Given the description of an element on the screen output the (x, y) to click on. 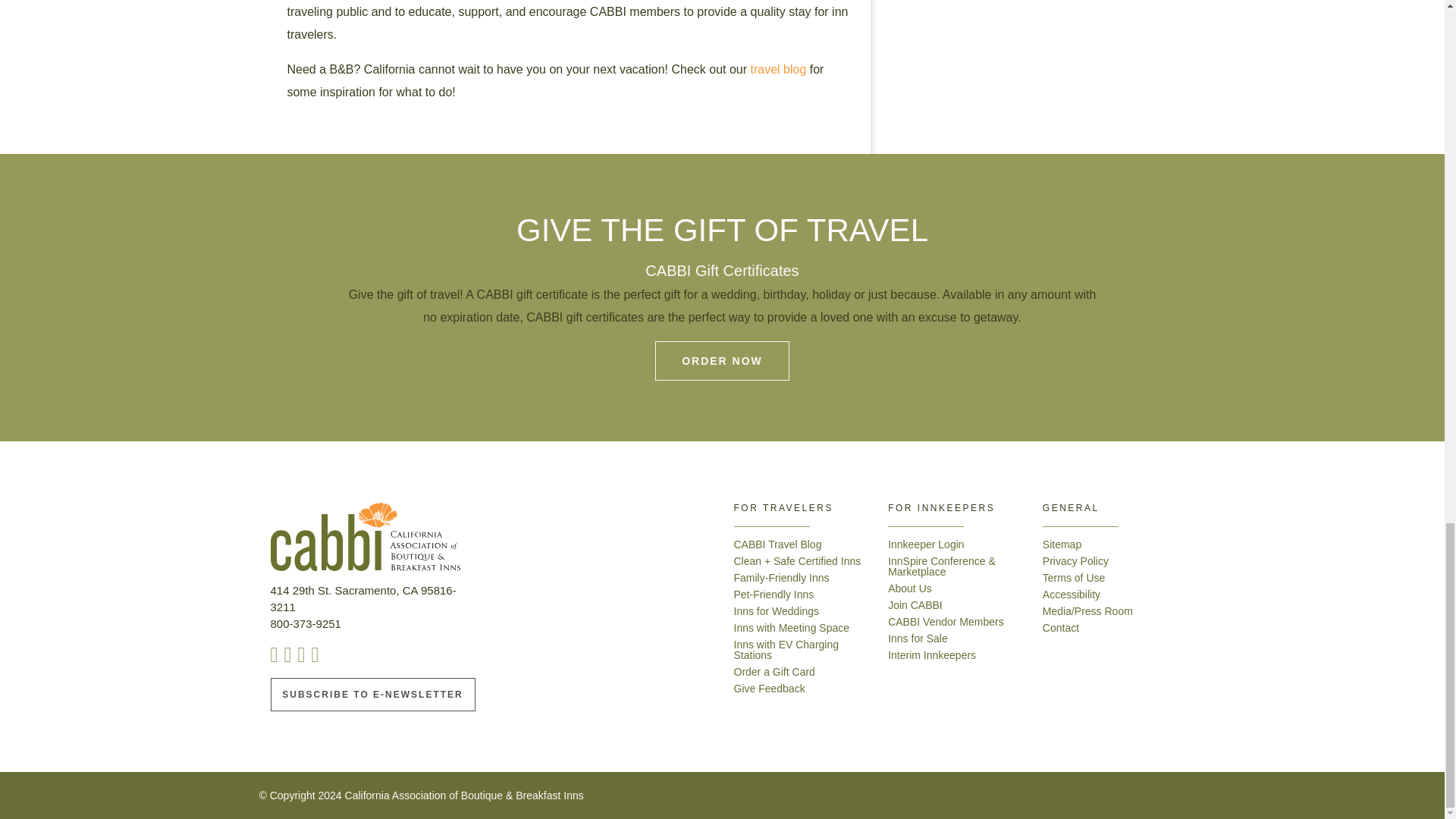
Inns with Meeting Space (791, 627)
Pet-Friendly Inns (773, 594)
travel blog (778, 69)
Inns for Weddings (776, 611)
Family-Friendly Inns (781, 577)
ORDER NOW (722, 360)
CABBI Travel Blog (777, 544)
Inns with EV Charging Stations (786, 649)
SUBSCRIBE TO E-NEWSLETTER (371, 694)
